Given the description of an element on the screen output the (x, y) to click on. 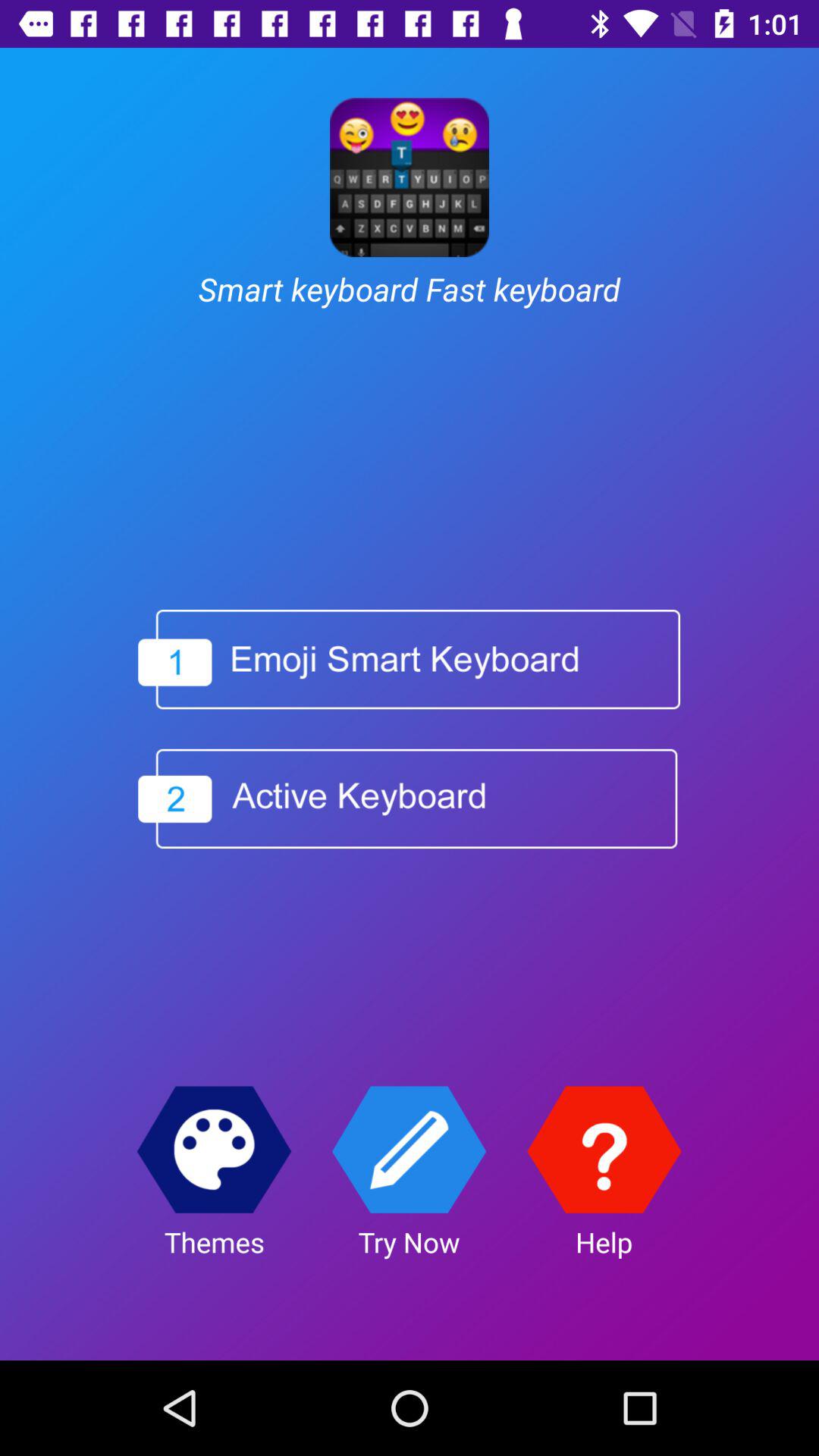
open help (603, 1149)
